Given the description of an element on the screen output the (x, y) to click on. 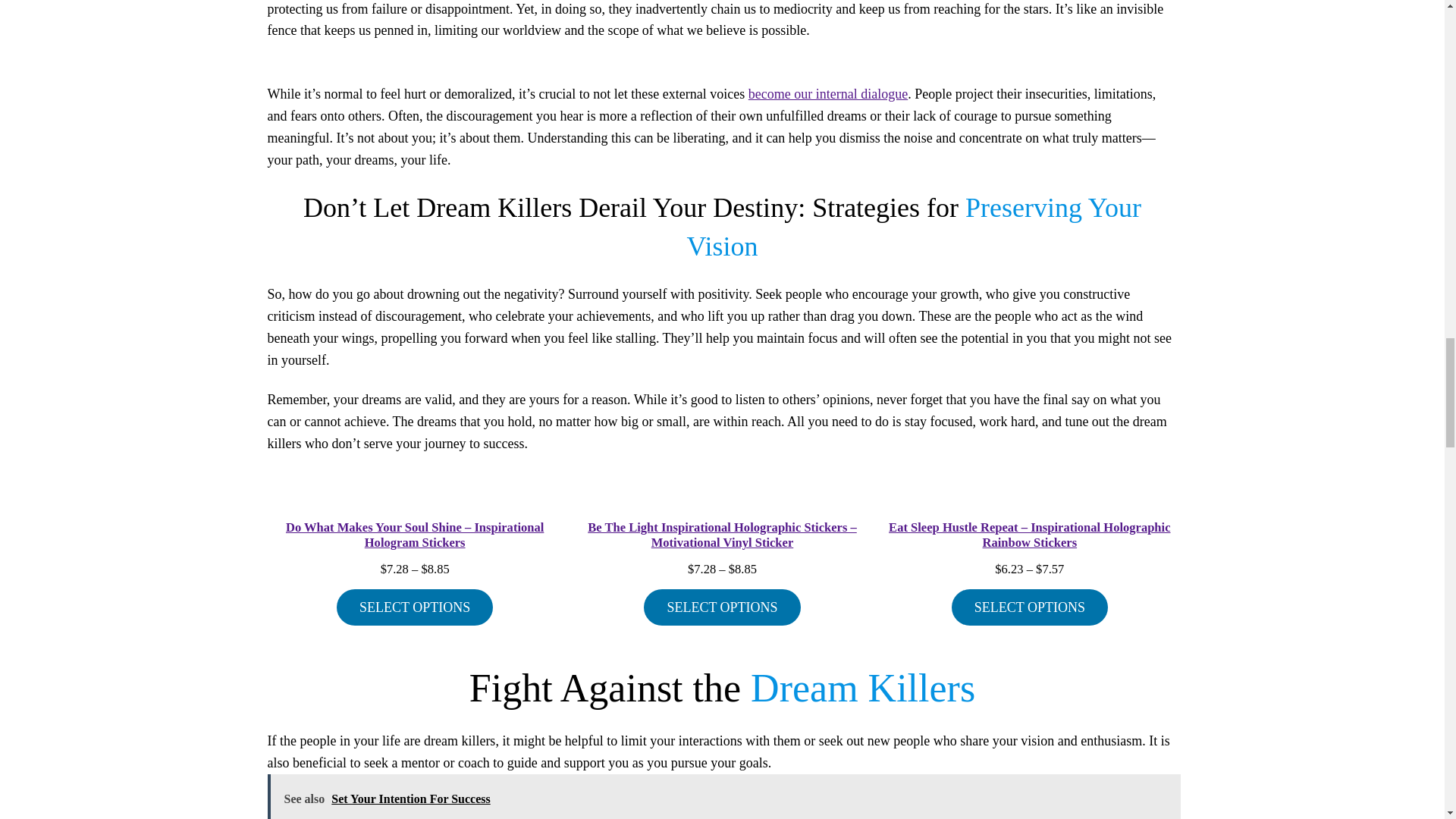
become our internal dialogue (827, 93)
SELECT OPTIONS (721, 606)
SELECT OPTIONS (1030, 606)
See also  Set Your Intention For Success (722, 796)
SELECT OPTIONS (414, 606)
